Given the description of an element on the screen output the (x, y) to click on. 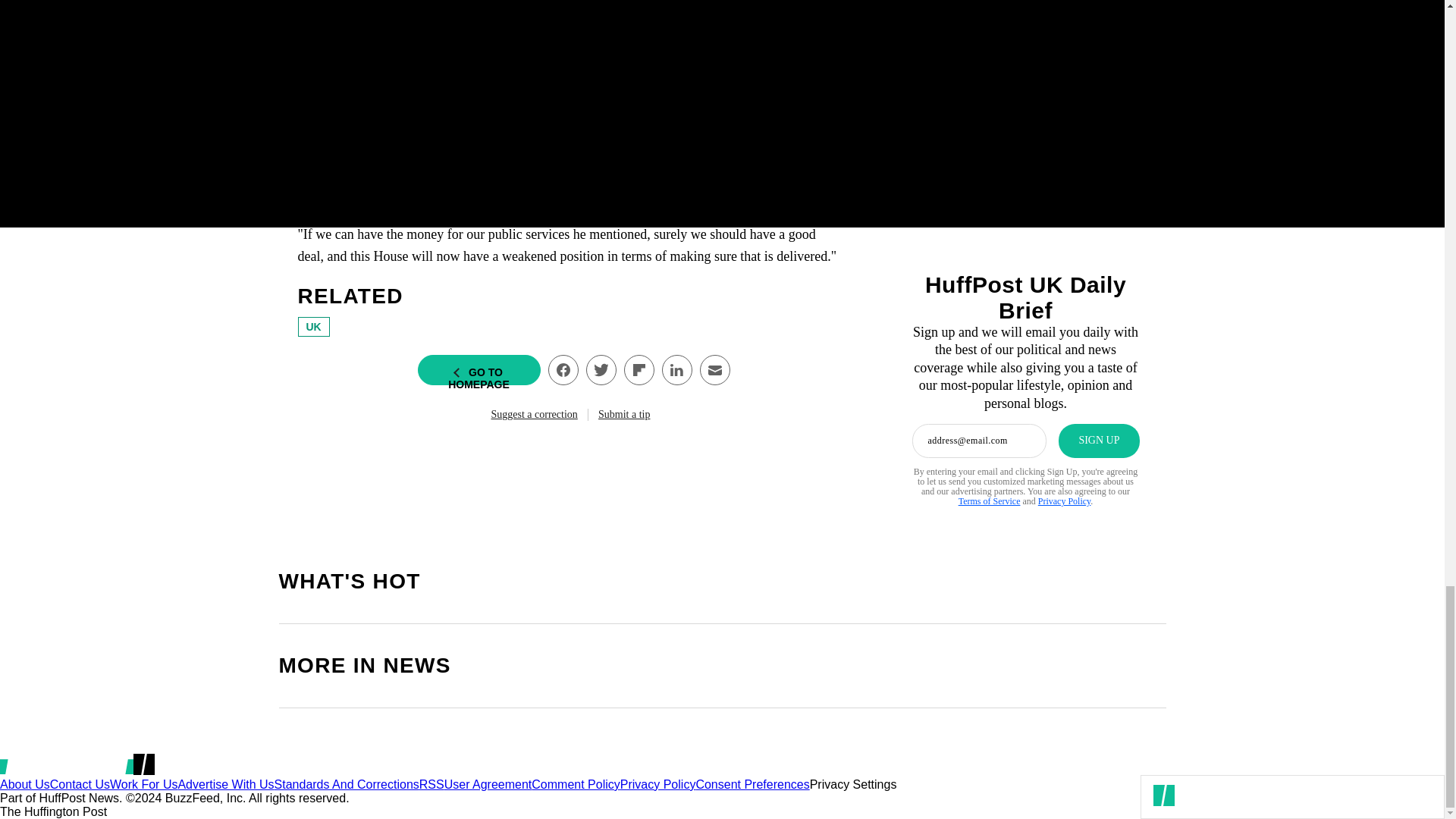
SIGN UP (1098, 440)
